Given the description of an element on the screen output the (x, y) to click on. 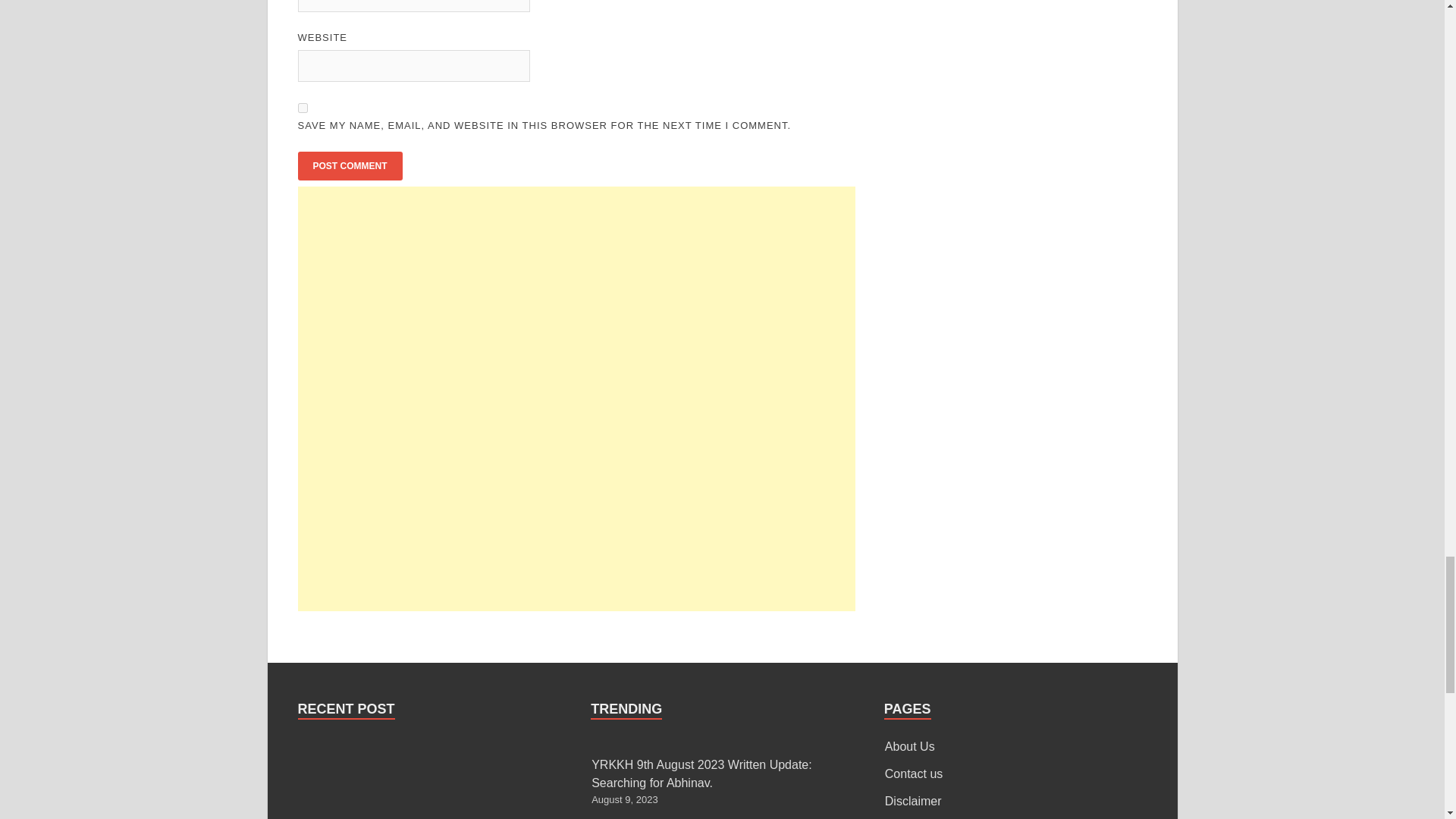
Post Comment (349, 165)
Contact us (913, 773)
Disclaimer (913, 800)
YRKKH 9th August 2023 Written Update: Searching for Abhinav. (701, 773)
Post Comment (349, 165)
yes (302, 108)
About Us (909, 746)
